Given the description of an element on the screen output the (x, y) to click on. 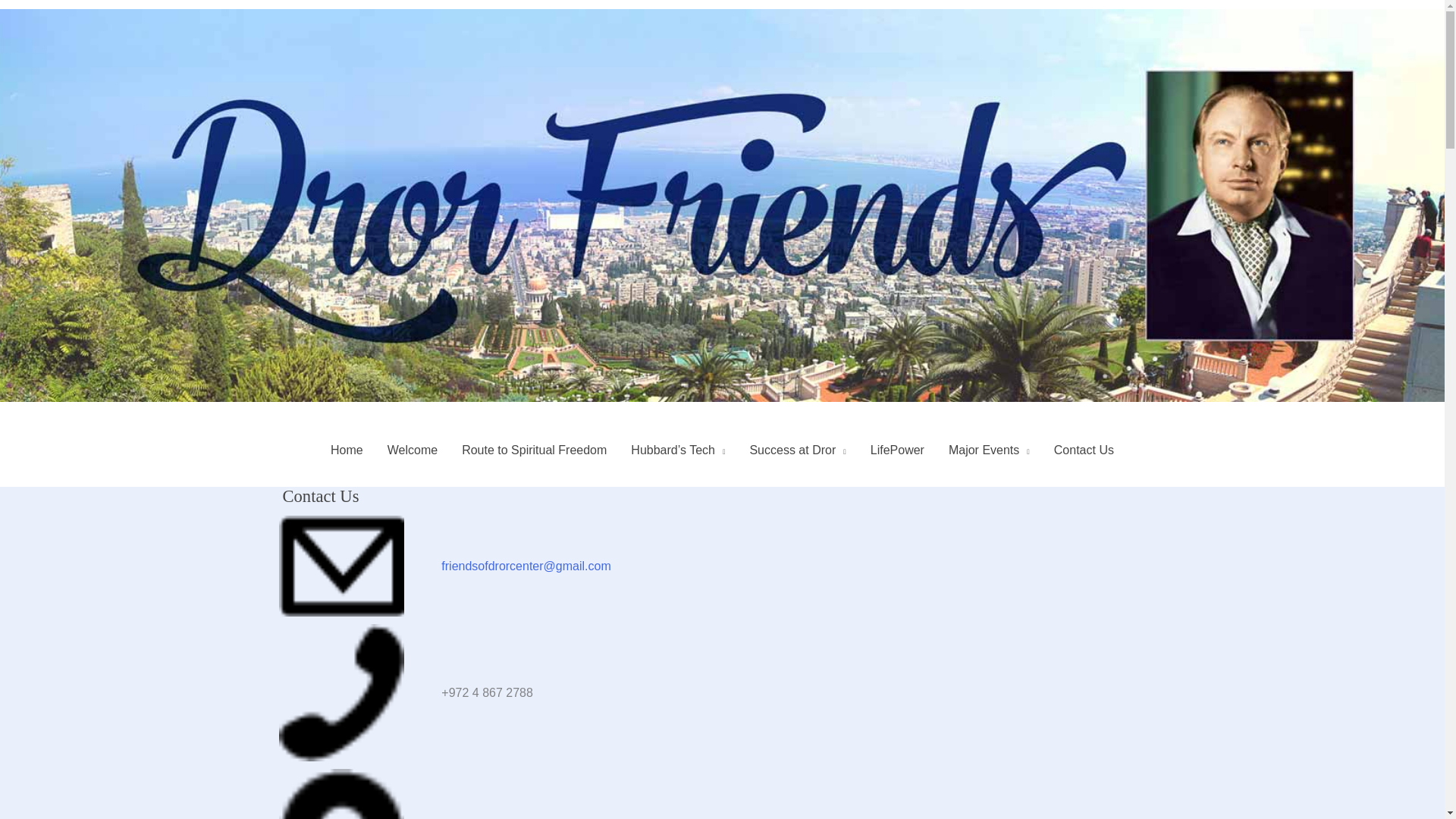
Home (346, 450)
Welcome (412, 450)
Major Events (989, 450)
LifePower (897, 450)
Route to Spiritual Freedom (533, 450)
Success at Dror (796, 450)
Contact Us (1083, 450)
